Given the description of an element on the screen output the (x, y) to click on. 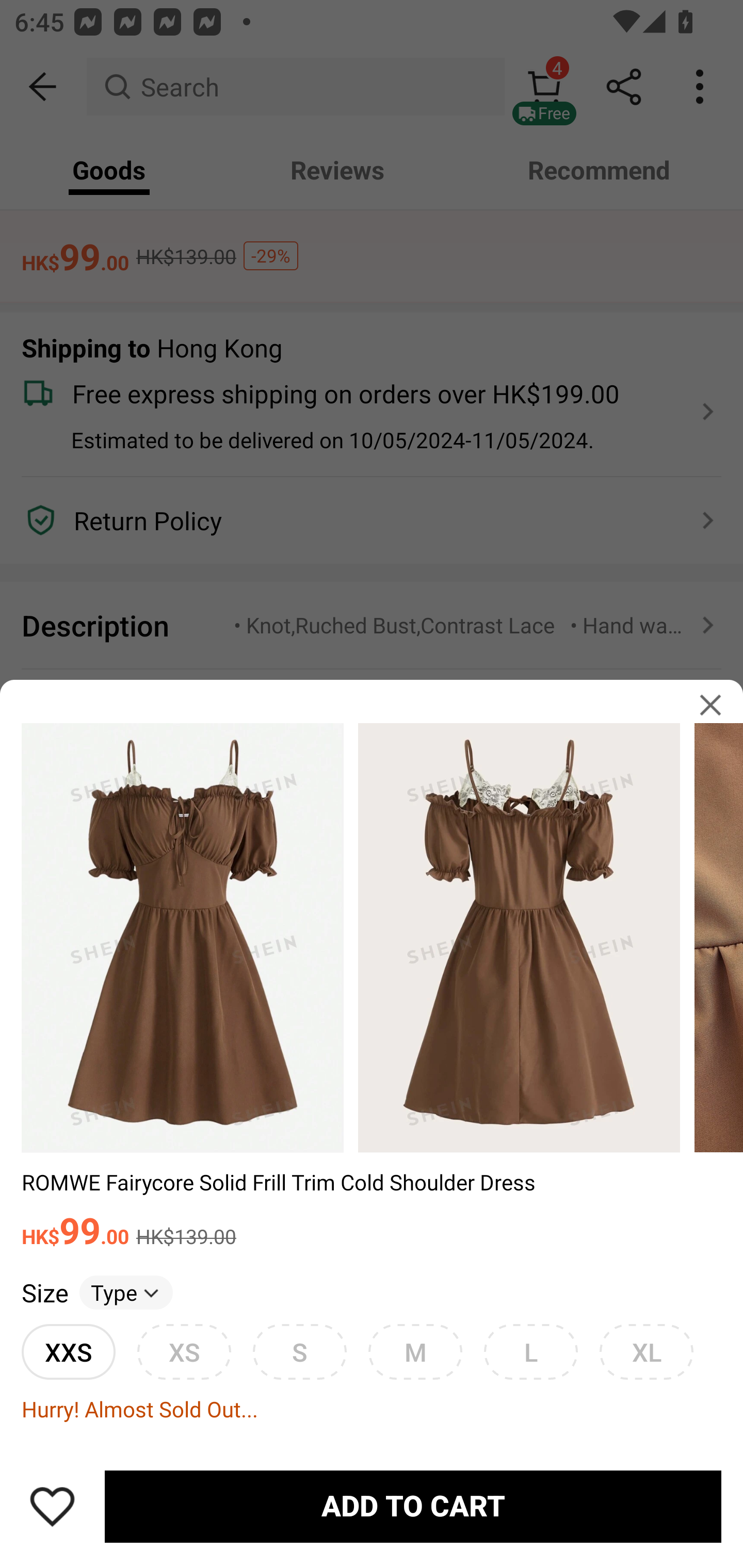
Size (44, 1291)
Type (126, 1291)
XXS unselected option (68, 1351)
XS (184, 1351)
S (299, 1351)
M (415, 1351)
L (530, 1351)
XL (646, 1351)
Hurry! Almost Sold Out... (371, 1408)
ADD TO CART (412, 1506)
Save (52, 1505)
